Given the description of an element on the screen output the (x, y) to click on. 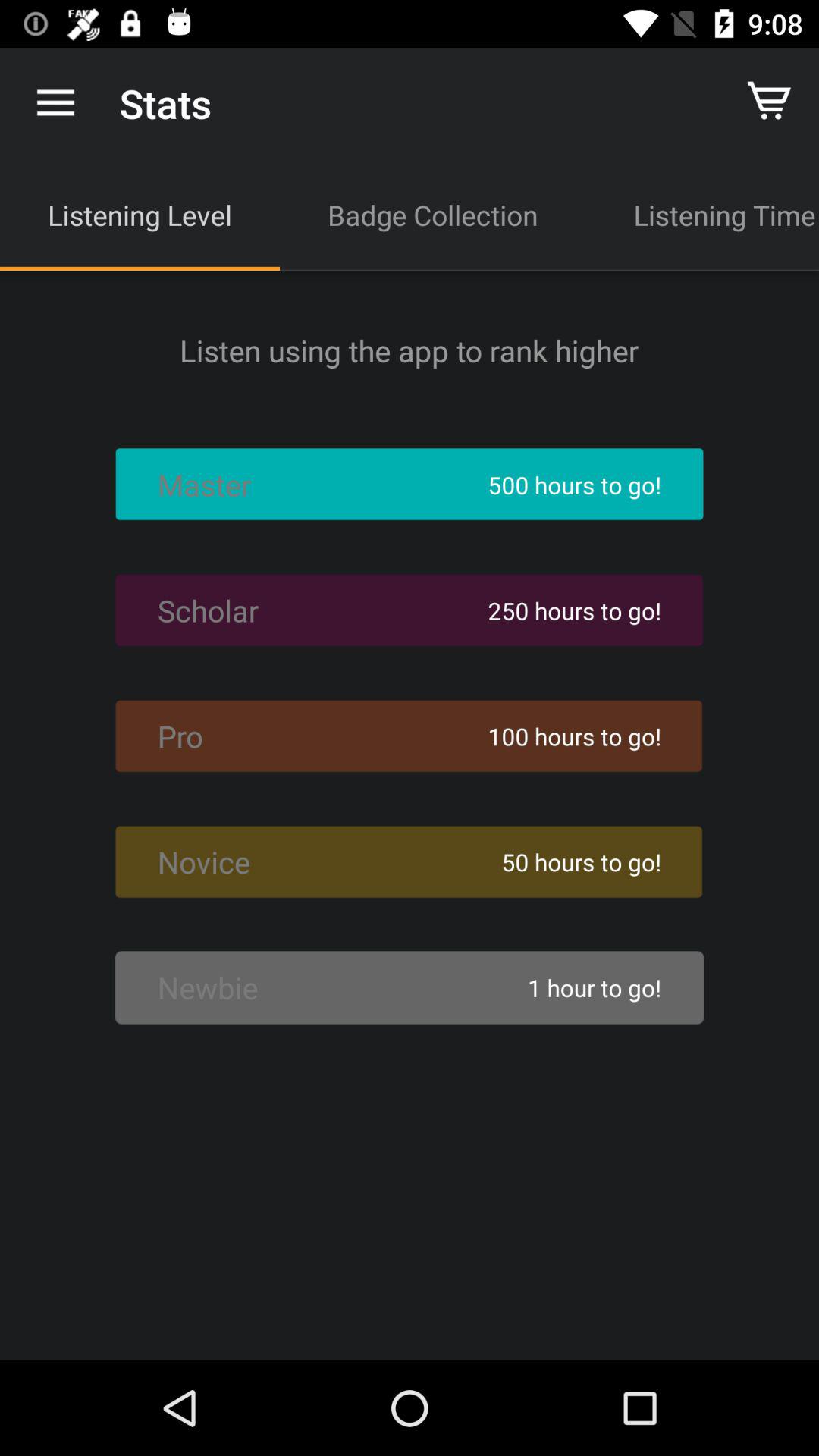
choose app next to the badge collection item (139, 214)
